Given the description of an element on the screen output the (x, y) to click on. 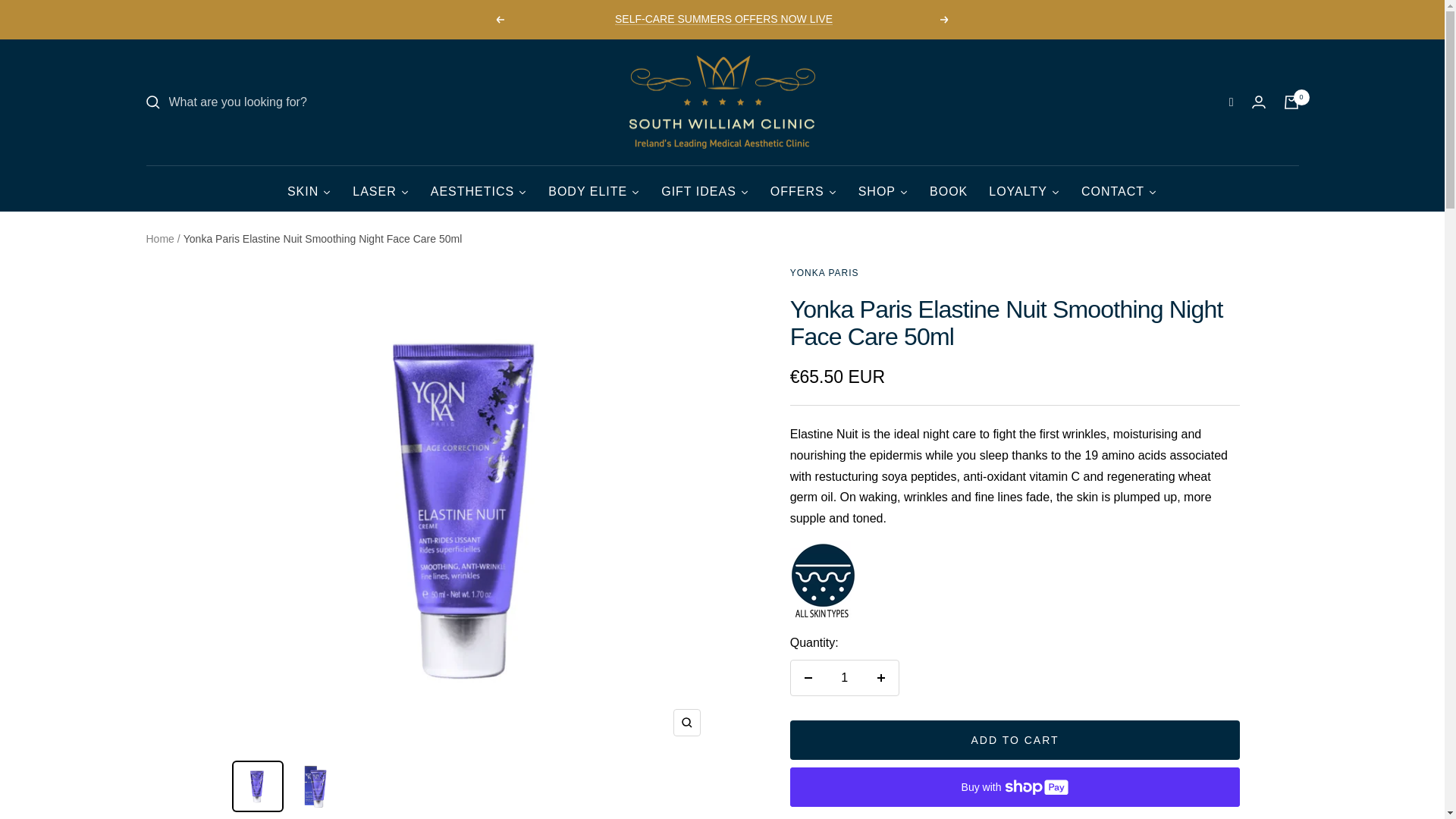
CONTACT (1118, 187)
OFFERS (803, 187)
LASER (380, 187)
BOOK (948, 187)
SELF-CARE SUMMERS OFFERS NOW LIVE (723, 19)
Increase quantity (880, 677)
YONKA PARIS (824, 272)
LASER (380, 187)
0 (1290, 101)
SKIN (309, 187)
OFFERS (803, 187)
GIFT IDEAS (705, 187)
1 (844, 677)
Home (159, 238)
GIFT IDEAS (705, 187)
